Given the description of an element on the screen output the (x, y) to click on. 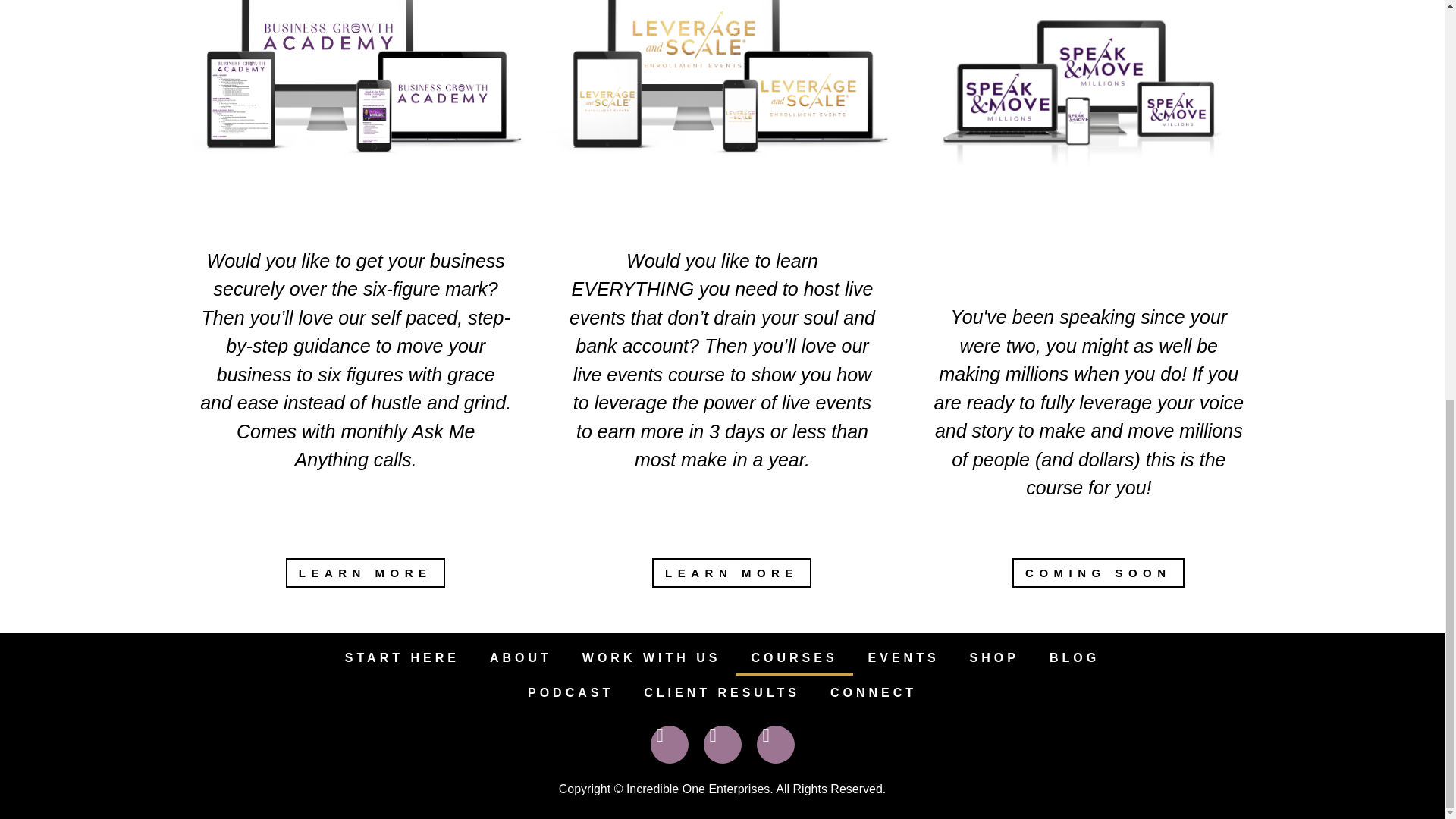
CLIENT RESULTS (721, 692)
LEARN MORE (365, 572)
EVENTS (904, 657)
BLOG (1074, 657)
START HERE (402, 657)
WORK WITH US (651, 657)
SHOP (994, 657)
ABOUT (520, 657)
LEARN MORE (731, 572)
COURSES (793, 657)
PODCAST (570, 692)
CONNECT (873, 692)
COMING SOON (1098, 572)
